Given the description of an element on the screen output the (x, y) to click on. 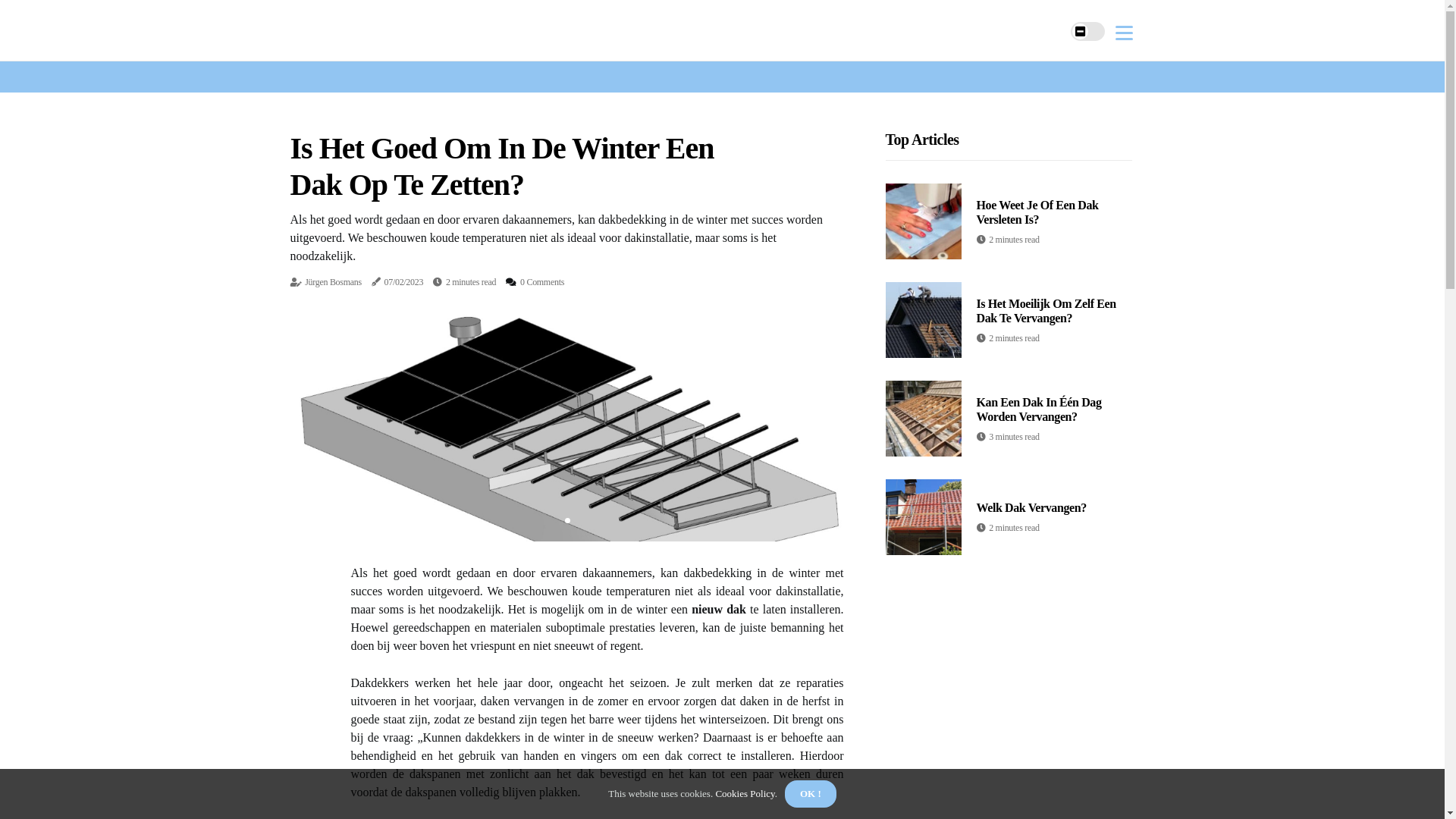
Hoe Weet Je Of Een Dak Versleten Is? Element type: text (1037, 211)
Welk Dak Vervangen? Element type: text (1031, 507)
Is Het Moeilijk Om Zelf Een Dak Te Vervangen? Element type: text (1046, 310)
1 Element type: text (566, 520)
0 Comments Element type: text (542, 281)
Cookies Policy Element type: text (743, 793)
